Given the description of an element on the screen output the (x, y) to click on. 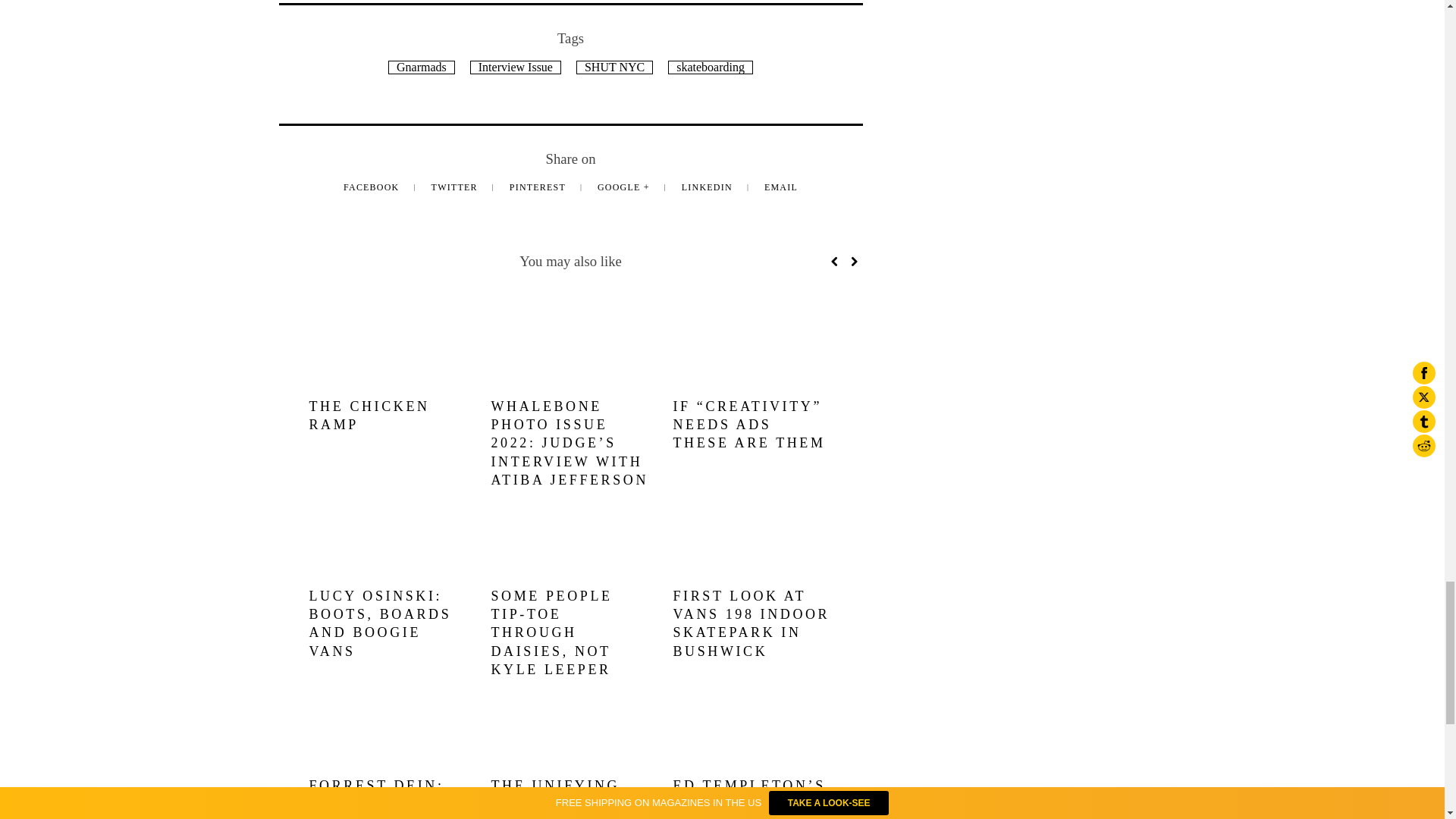
TWITTER (455, 186)
skateboarding (710, 67)
LUCY OSINSKI: BOOTS, BOARDS AND BOOGIE VANS (379, 623)
SOME PEOPLE TIP-TOE THROUGH DAISIES, NOT KYLE LEEPER (552, 632)
PINTEREST (539, 186)
FIRST LOOK AT VANS 198 INDOOR SKATEPARK IN BUSHWICK (750, 623)
EMAIL (780, 186)
FACEBOOK (373, 186)
LINKEDIN (708, 186)
THE CHICKEN RAMP (368, 415)
